Given the description of an element on the screen output the (x, y) to click on. 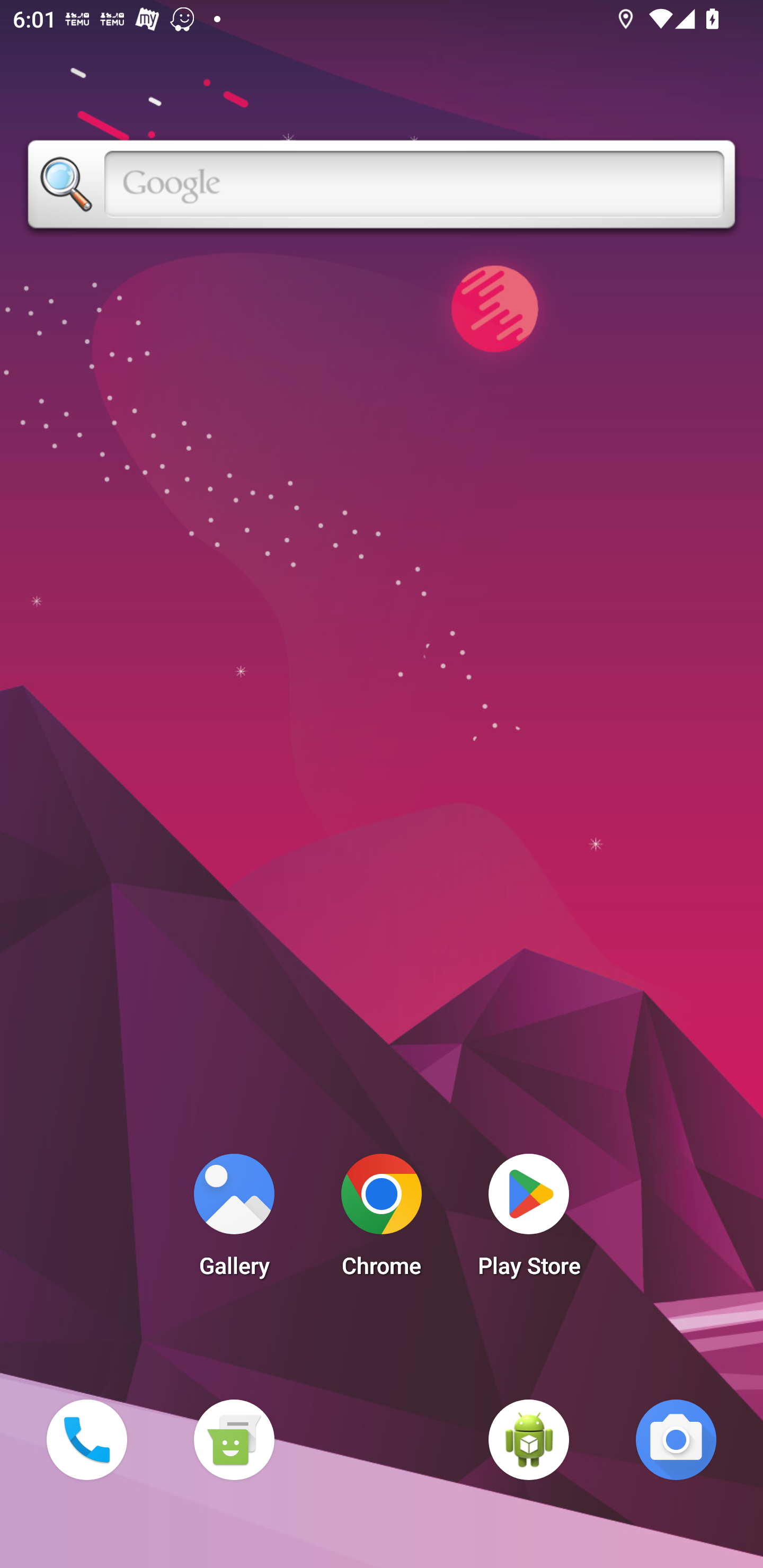
Gallery (233, 1220)
Chrome (381, 1220)
Play Store (528, 1220)
Phone (86, 1439)
Messaging (233, 1439)
WebView Browser Tester (528, 1439)
Camera (676, 1439)
